Given the description of an element on the screen output the (x, y) to click on. 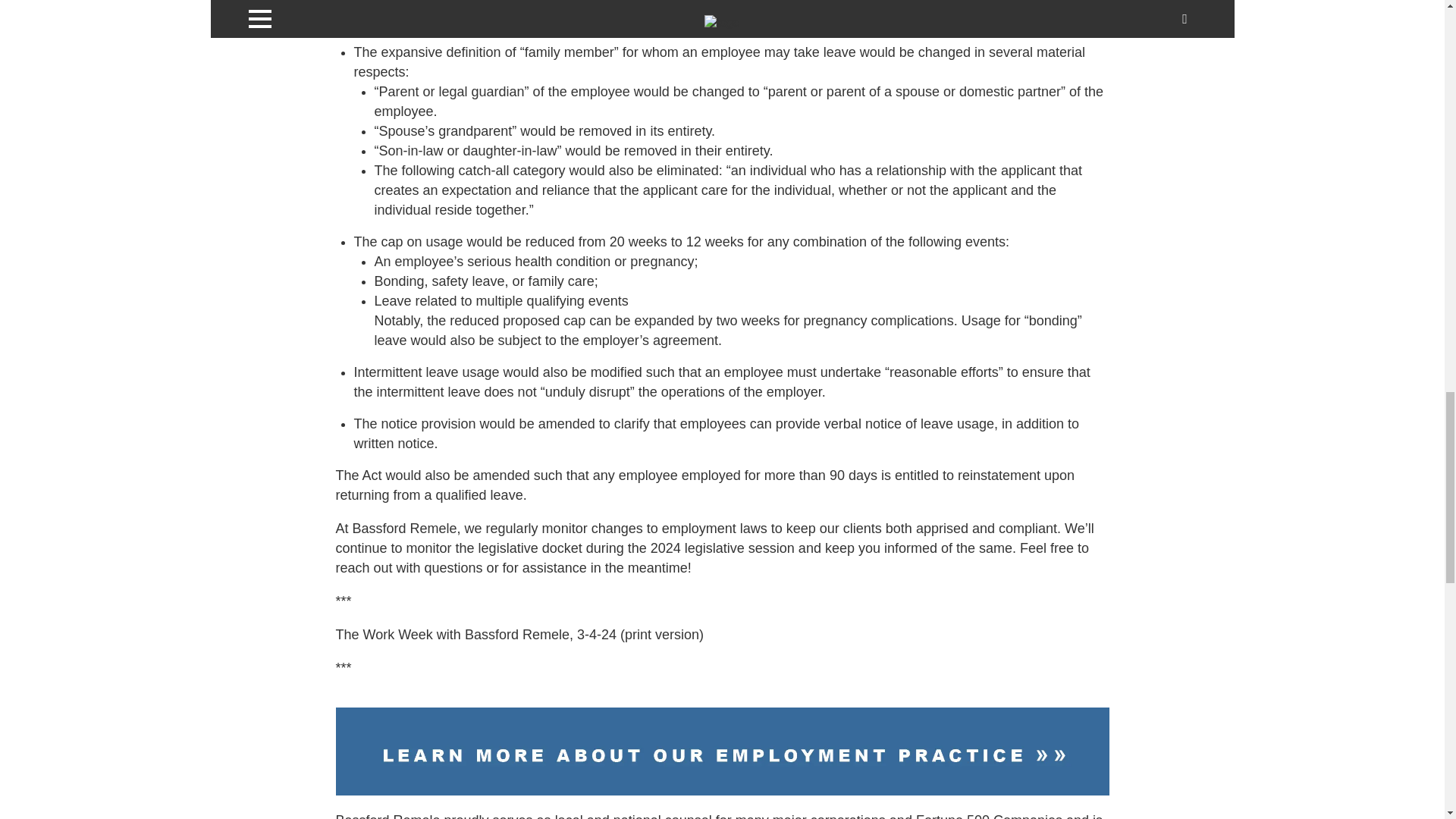
The Work Week with Bassford Remele, 3-4-24 (474, 634)
Bassford Remele (404, 528)
